Given the description of an element on the screen output the (x, y) to click on. 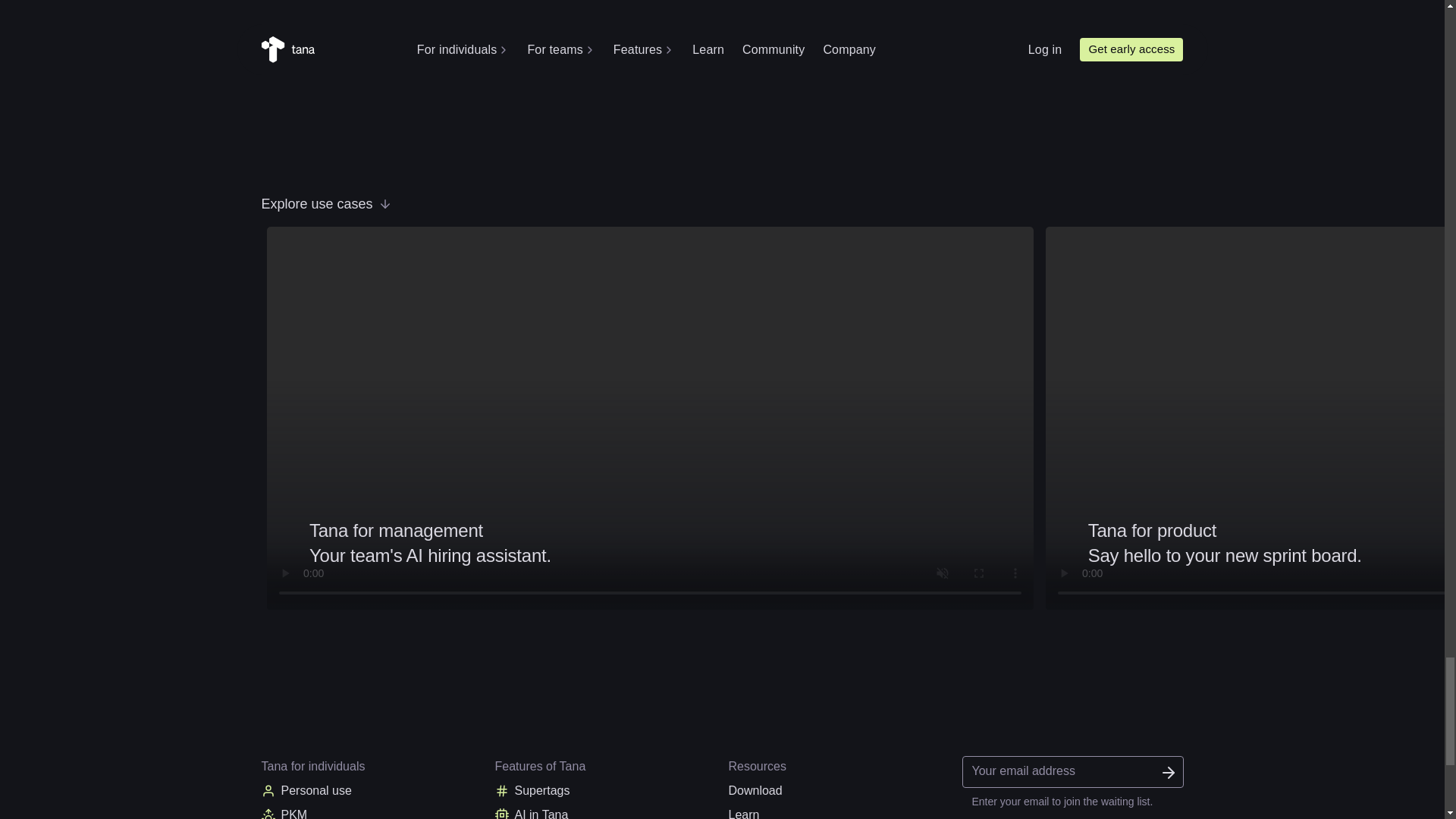
AI in Tana (605, 811)
Personal use (370, 790)
Supertags (605, 790)
PKM (551, 542)
